Given the description of an element on the screen output the (x, y) to click on. 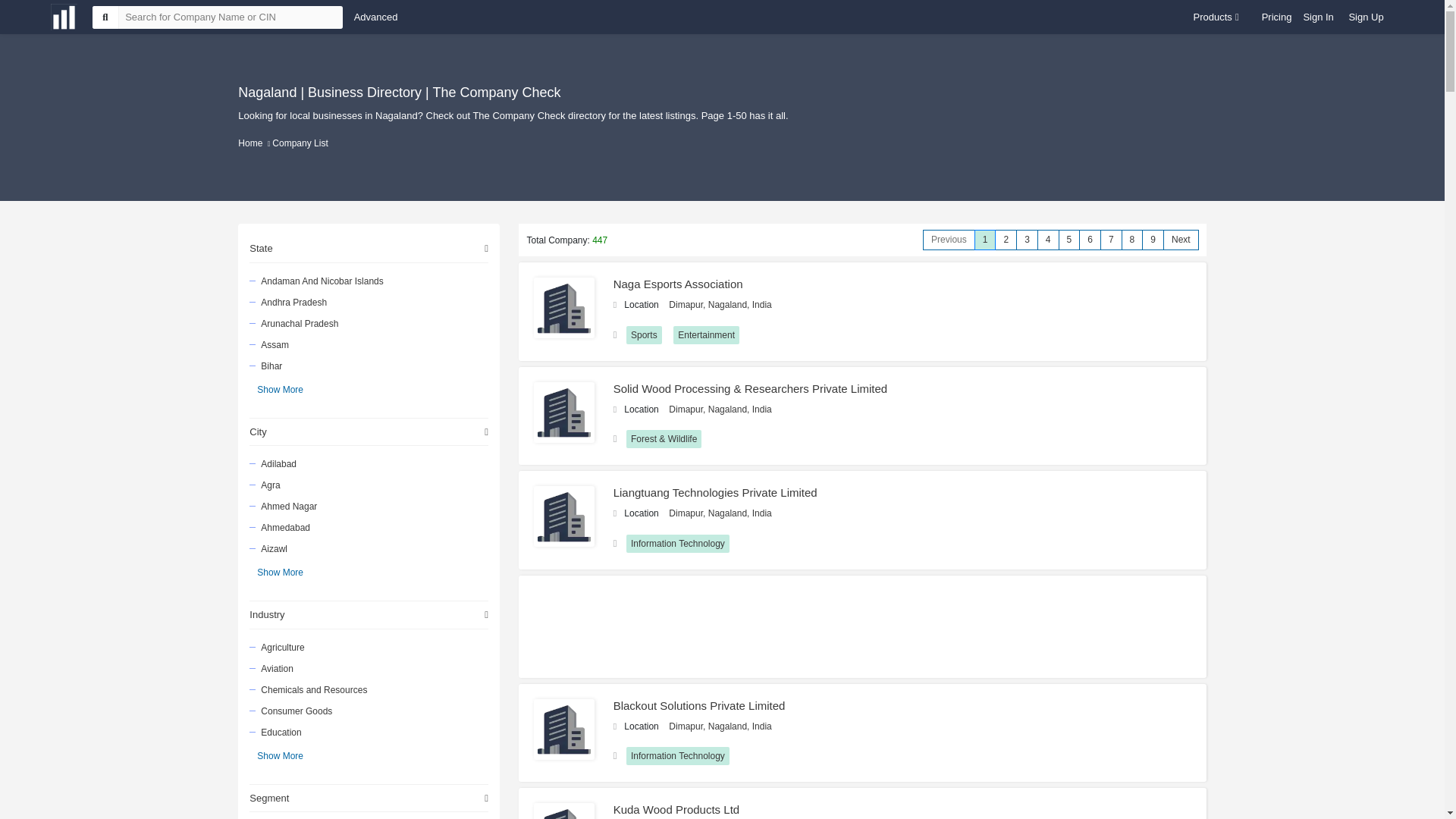
Andaman And Nicobar Islands (367, 280)
Sign Up (1365, 16)
Products (1216, 17)
Bihar (367, 364)
Show More (279, 388)
Pricing (1277, 17)
Arunachal Pradesh (367, 322)
Advanced (375, 17)
Sign In (1318, 16)
State (367, 248)
Company List (299, 143)
Andhra Pradesh (367, 301)
Home (250, 143)
Assam (367, 343)
